Given the description of an element on the screen output the (x, y) to click on. 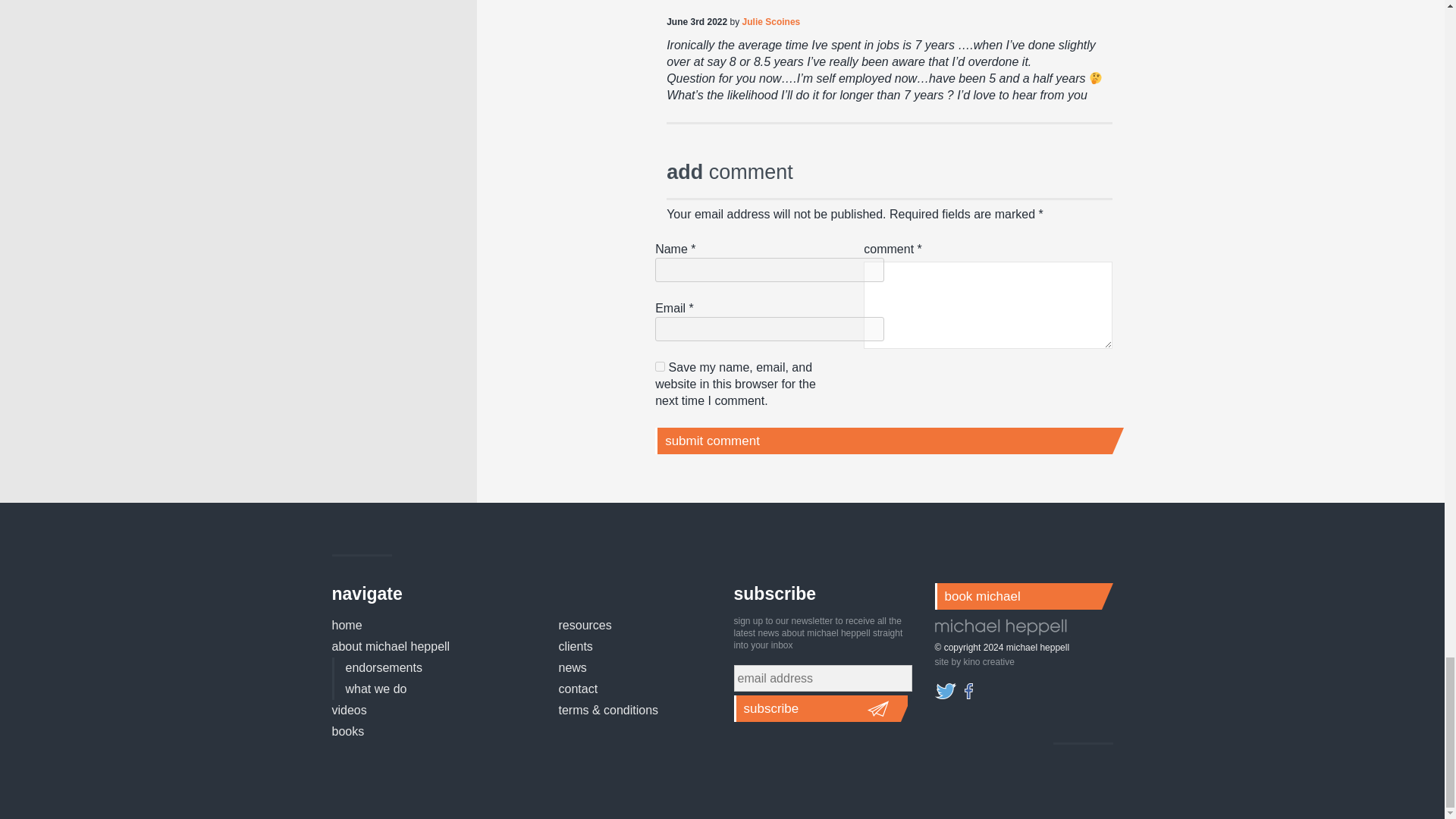
yes (660, 366)
subscribe (820, 708)
submit comment (883, 440)
